Given the description of an element on the screen output the (x, y) to click on. 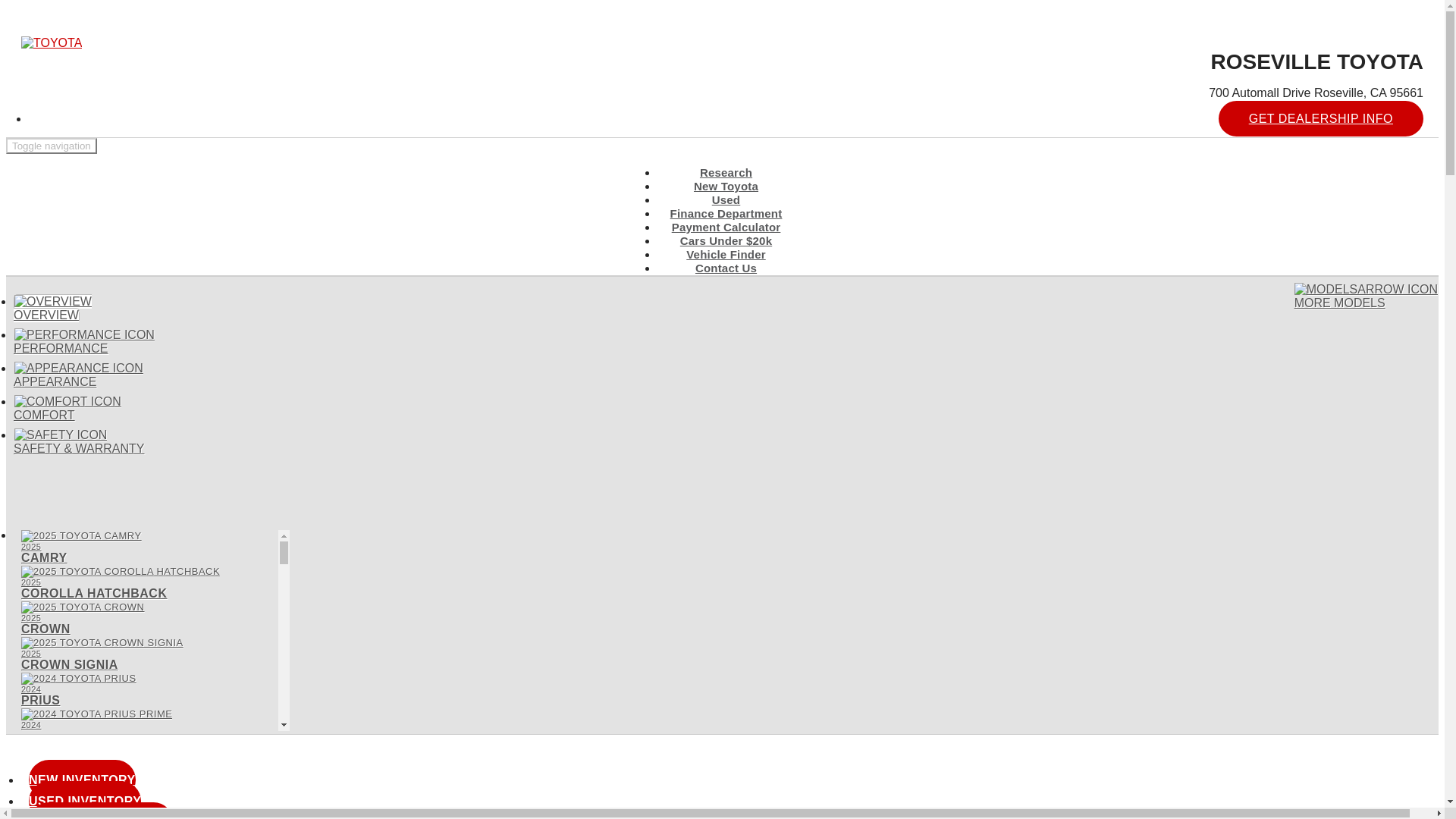
Used (145, 725)
Payment Calculator (145, 582)
MORE MODELS (725, 199)
OVERVIEW (725, 226)
Vehicle Finder (1366, 296)
